Given the description of an element on the screen output the (x, y) to click on. 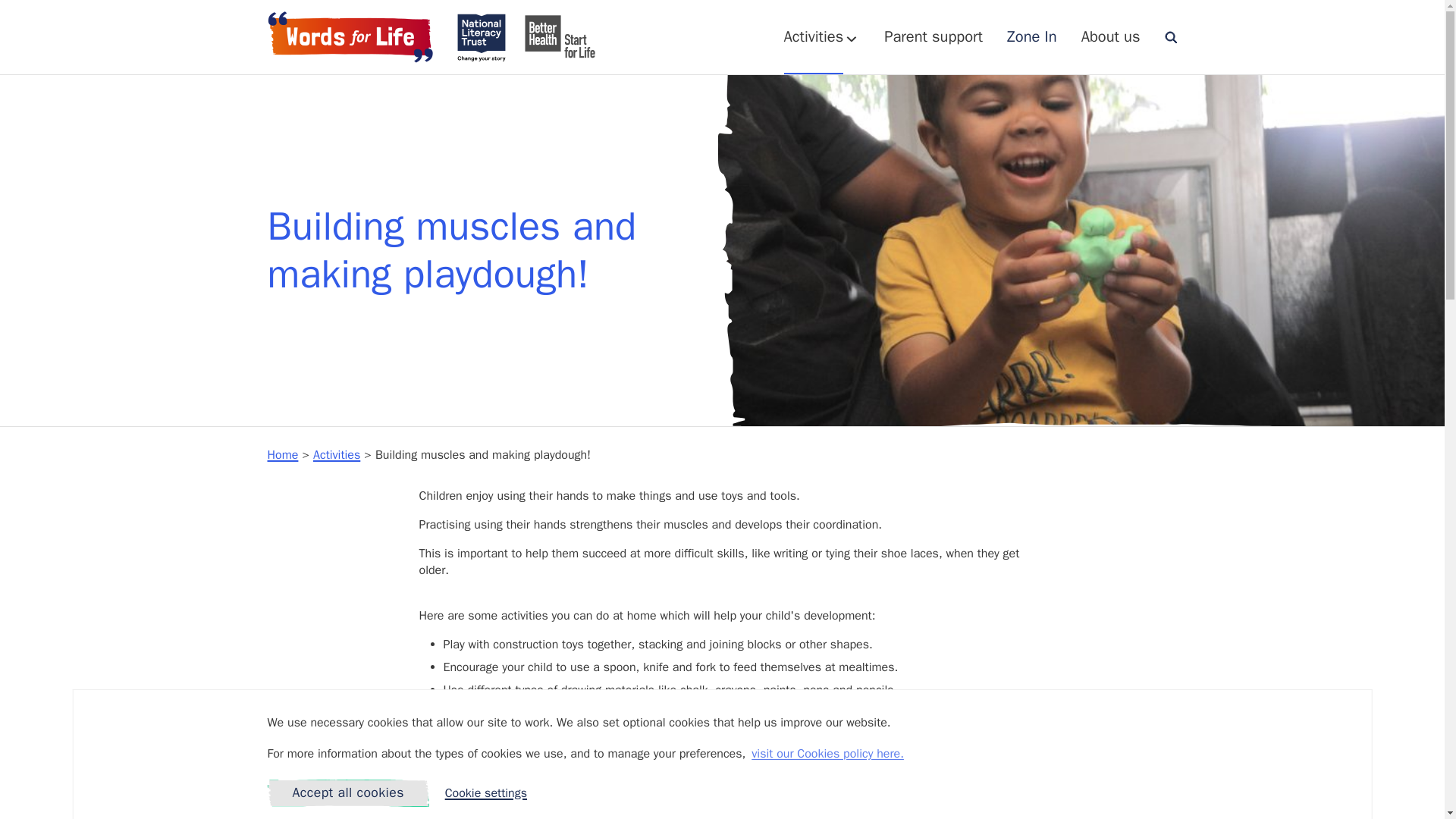
Parent support (932, 36)
Cookie settings (486, 792)
visit our Cookies policy here. (827, 753)
Activities (336, 454)
Accept all cookies (347, 792)
Home (282, 454)
About us (1110, 36)
Zone In (1032, 36)
